Given the description of an element on the screen output the (x, y) to click on. 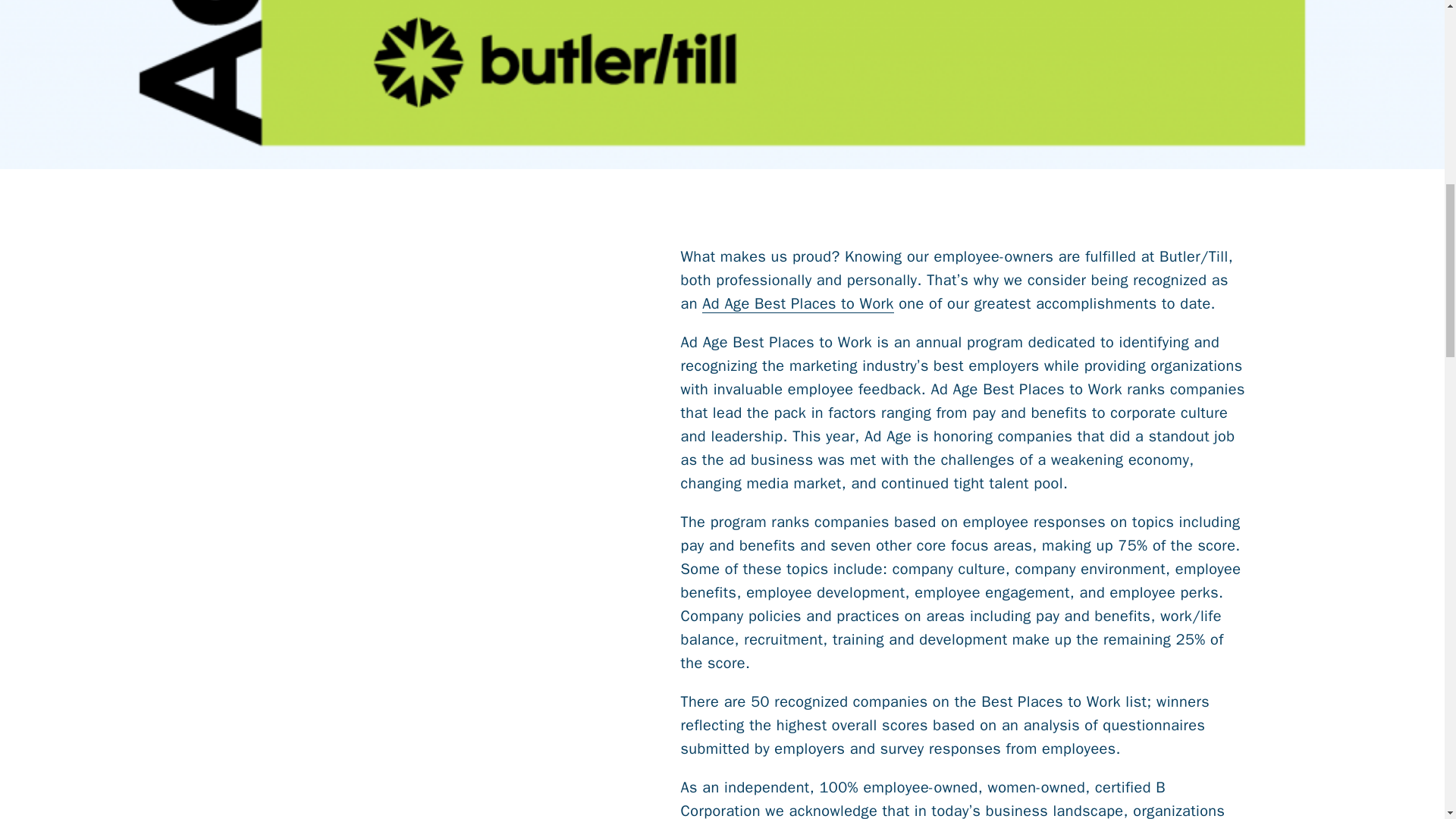
Ad Age Best Places to Work (797, 303)
